Given the description of an element on the screen output the (x, y) to click on. 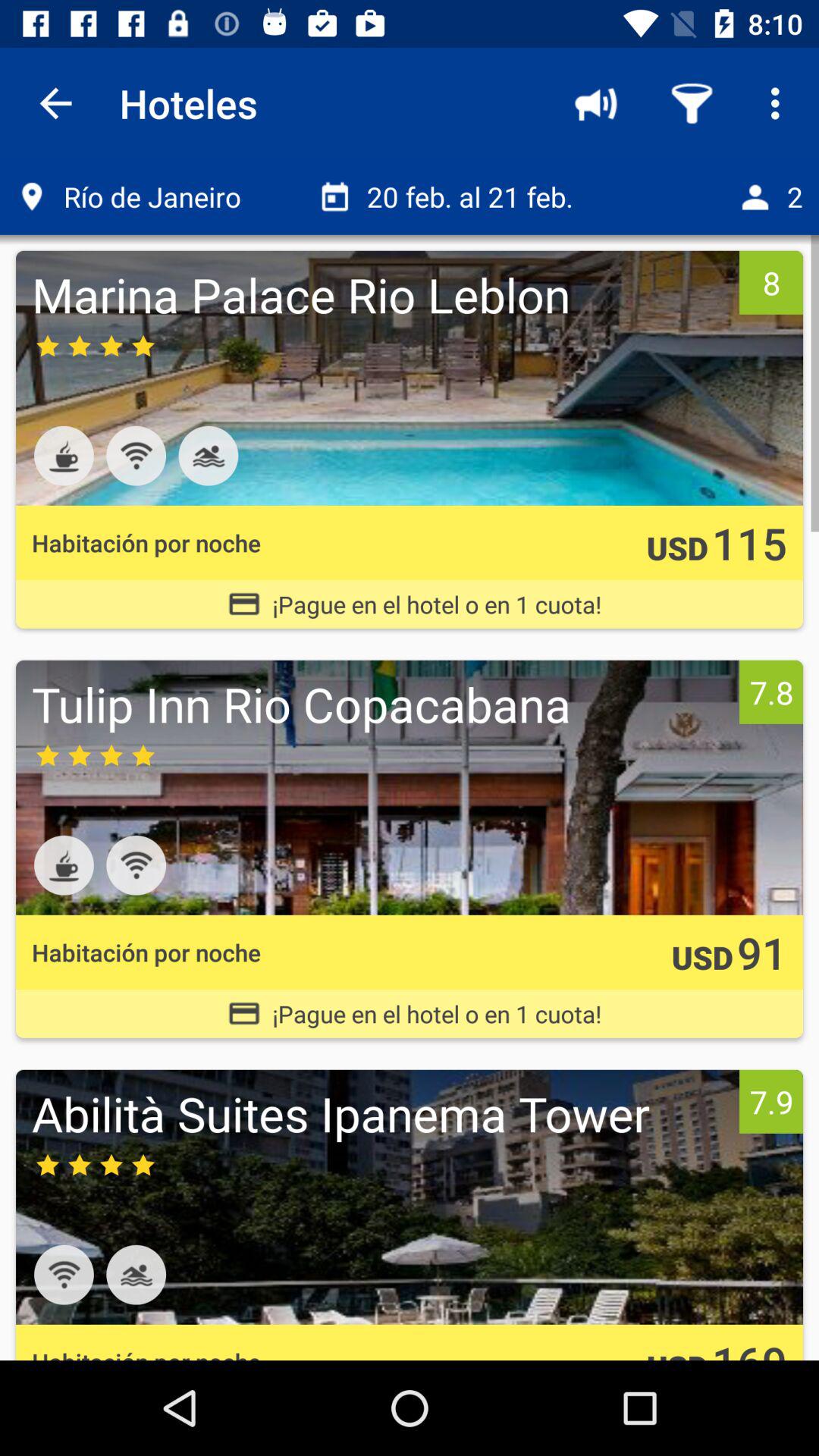
tap the item next to the usd icon (762, 952)
